Given the description of an element on the screen output the (x, y) to click on. 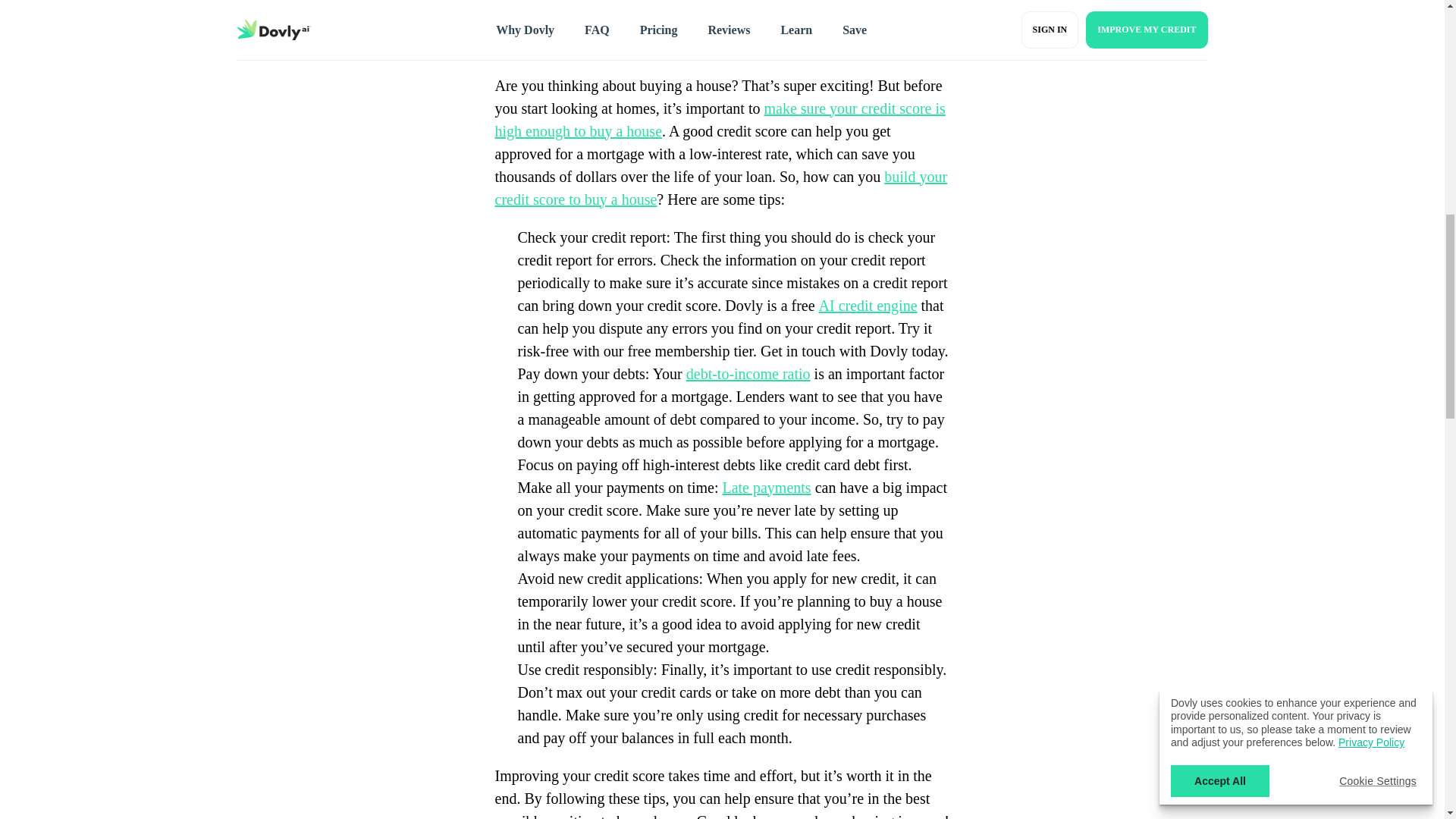
Late payments (766, 487)
AI credit engine (867, 305)
make sure your credit score is high enough to buy a house (719, 119)
build your credit score to buy a house (721, 188)
debt-to-income ratio (747, 373)
